Given the description of an element on the screen output the (x, y) to click on. 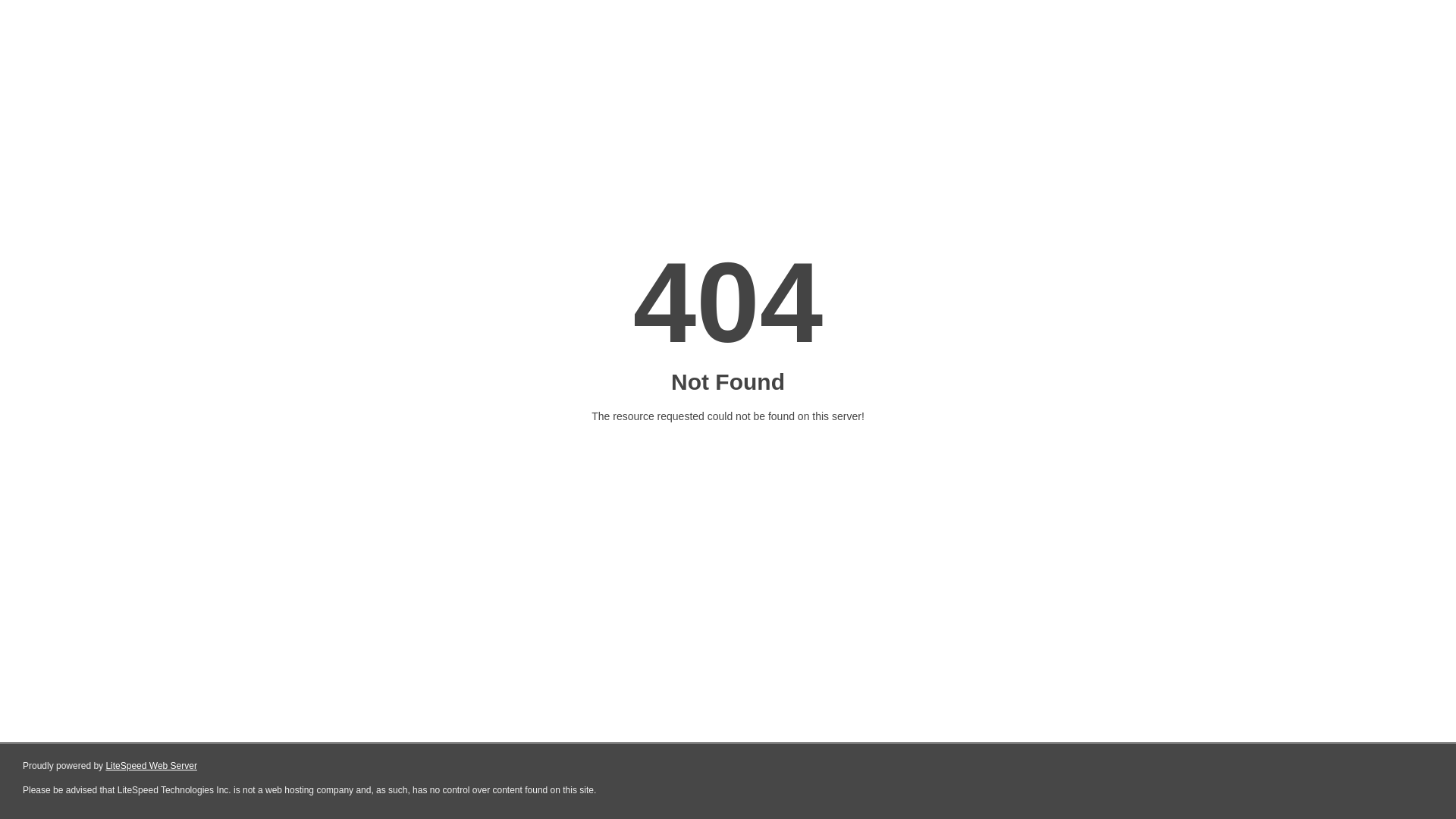
LiteSpeed Web Server (150, 765)
